Given the description of an element on the screen output the (x, y) to click on. 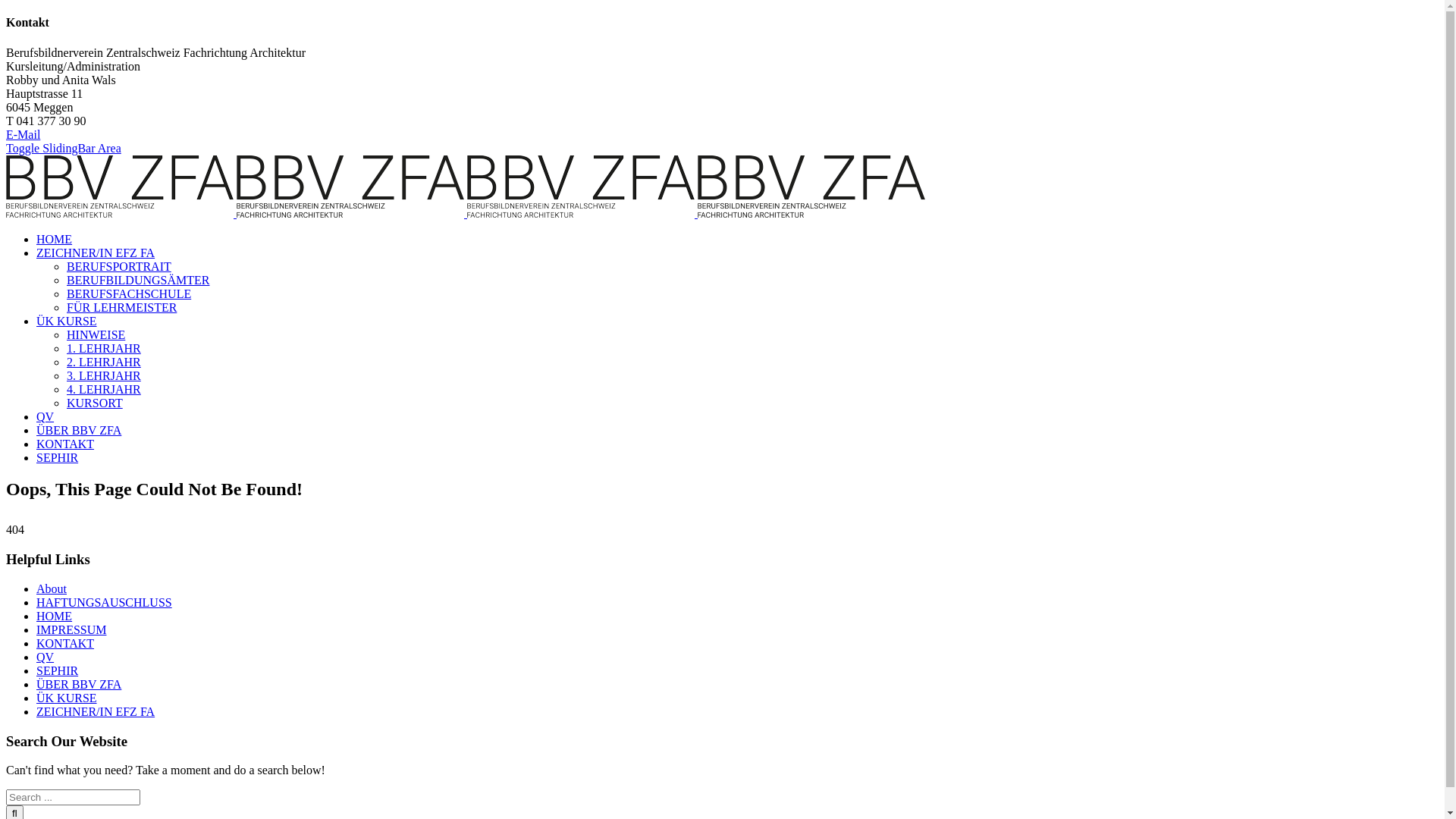
HOME Element type: text (54, 615)
HINWEISE Element type: text (95, 334)
BERUFSFACHSCHULE Element type: text (128, 293)
SEPHIR Element type: text (57, 670)
KONTAKT Element type: text (65, 643)
HOME Element type: text (54, 238)
HAFTUNGSAUSCHLUSS Element type: text (104, 602)
2. LEHRJAHR Element type: text (103, 361)
1. LEHRJAHR Element type: text (103, 348)
IMPRESSUM Element type: text (71, 629)
KURSORT Element type: text (94, 402)
QV Element type: text (44, 656)
3. LEHRJAHR Element type: text (103, 375)
QV Element type: text (44, 416)
BERUFSPORTRAIT Element type: text (118, 266)
About Element type: text (51, 588)
ZEICHNER/IN EFZ FA Element type: text (95, 711)
KONTAKT Element type: text (65, 443)
ZEICHNER/IN EFZ FA Element type: text (95, 252)
E-Mail Element type: text (23, 134)
Toggle SlidingBar Area Element type: text (63, 147)
4. LEHRJAHR Element type: text (103, 388)
SEPHIR Element type: text (57, 457)
